Given the description of an element on the screen output the (x, y) to click on. 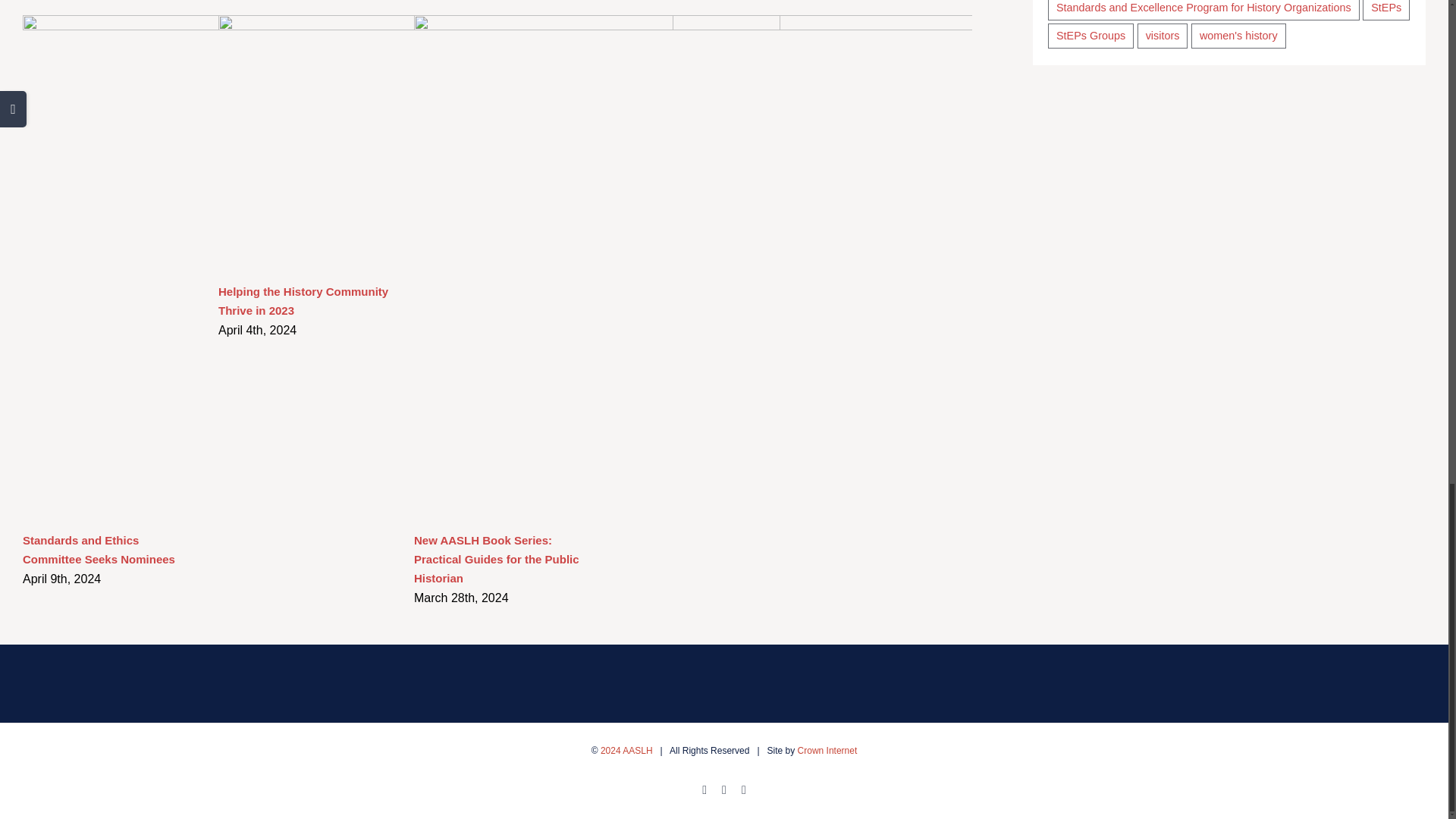
Standards and Ethics Committee Seeks Nominees (98, 549)
Helping the History Community Thrive in 2023 (303, 300)
